Given the description of an element on the screen output the (x, y) to click on. 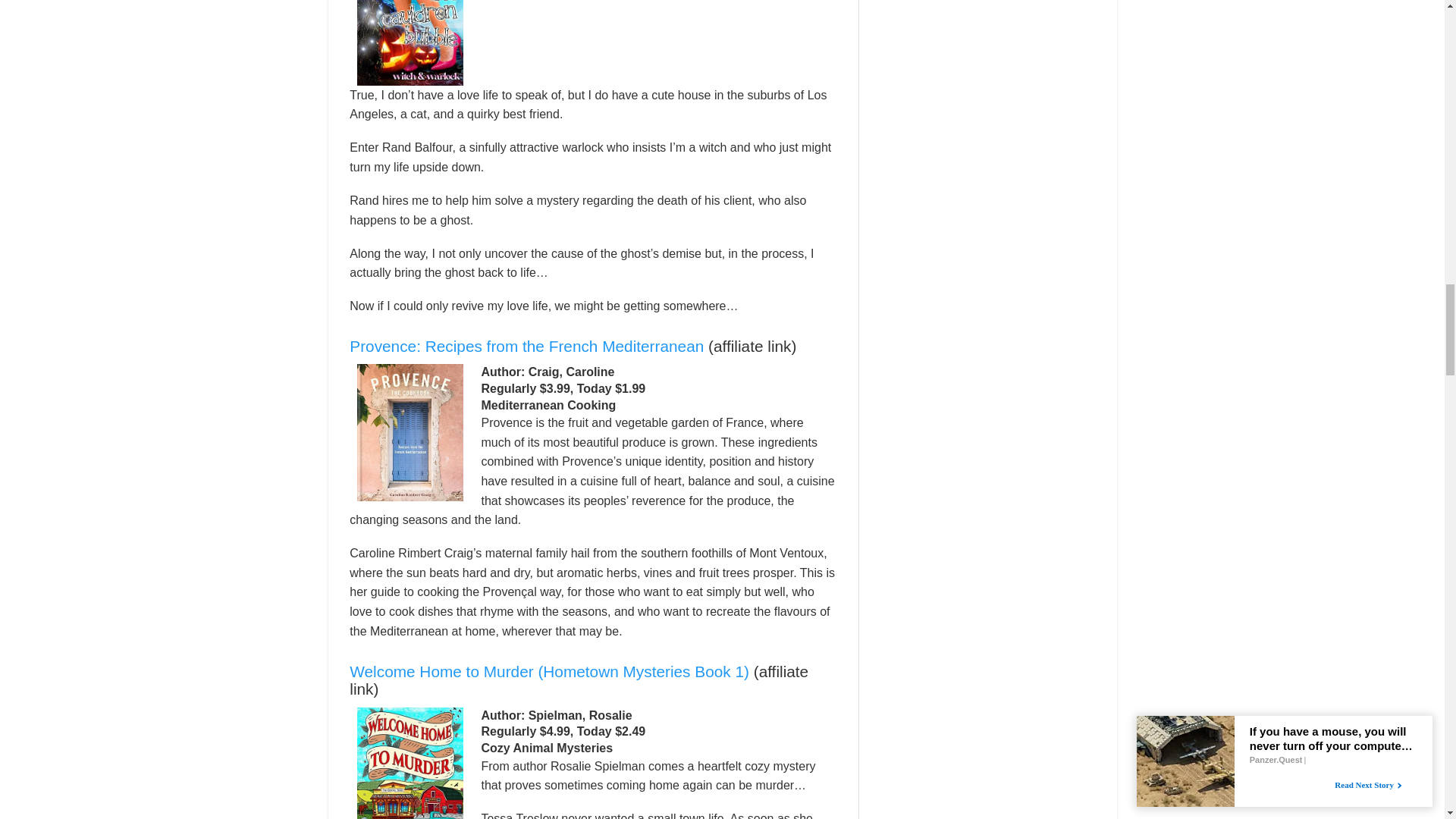
Provence: Recipes from the French Mediterranean (526, 345)
